Given the description of an element on the screen output the (x, y) to click on. 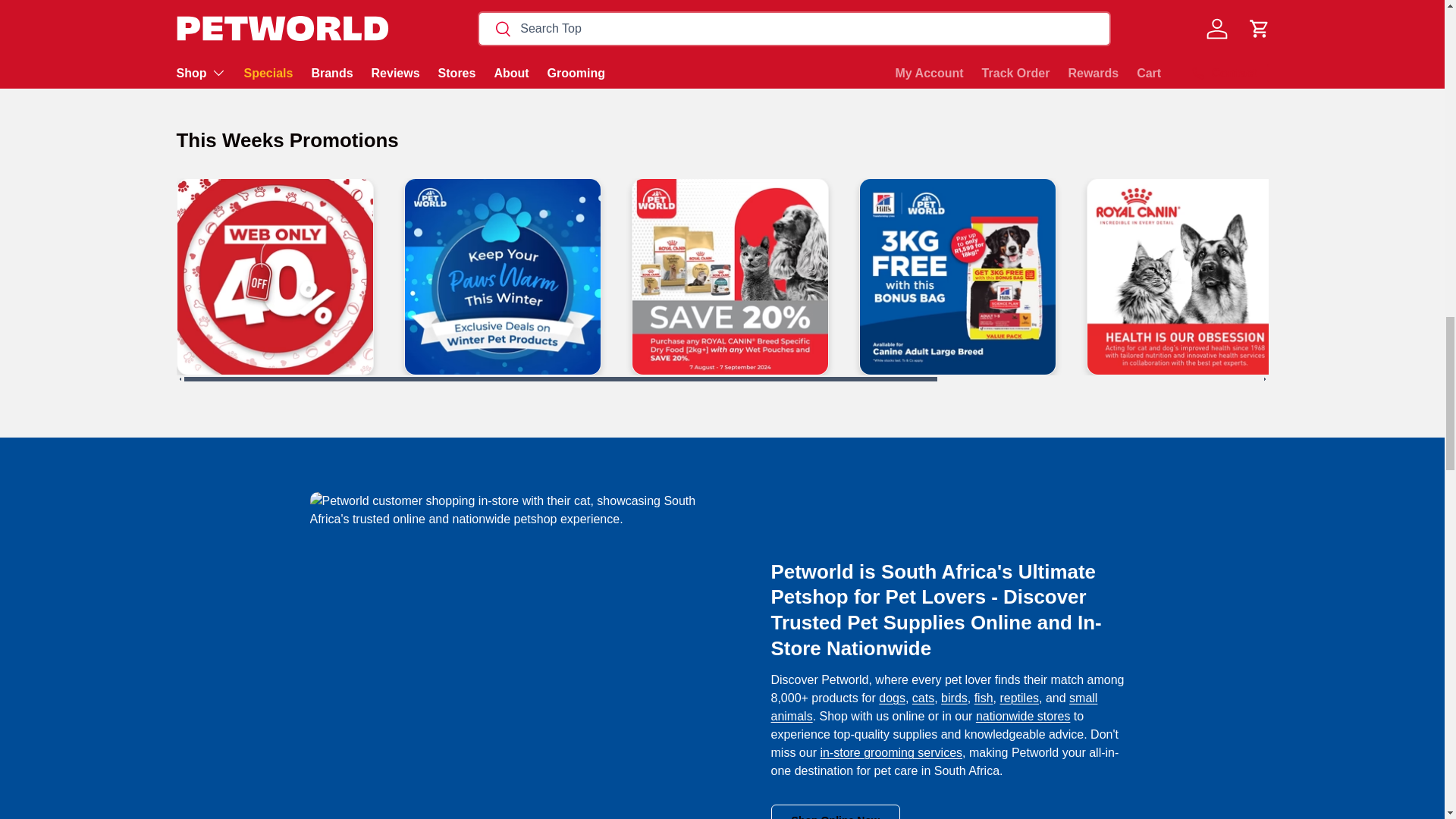
All Fish Products (983, 697)
Stores (1022, 716)
All Cat Products (923, 697)
All Reptile Products (1018, 697)
All Dog Products (892, 697)
All Bird Products (954, 697)
All Small Pet Products (933, 706)
Grooming (890, 752)
